Given the description of an element on the screen output the (x, y) to click on. 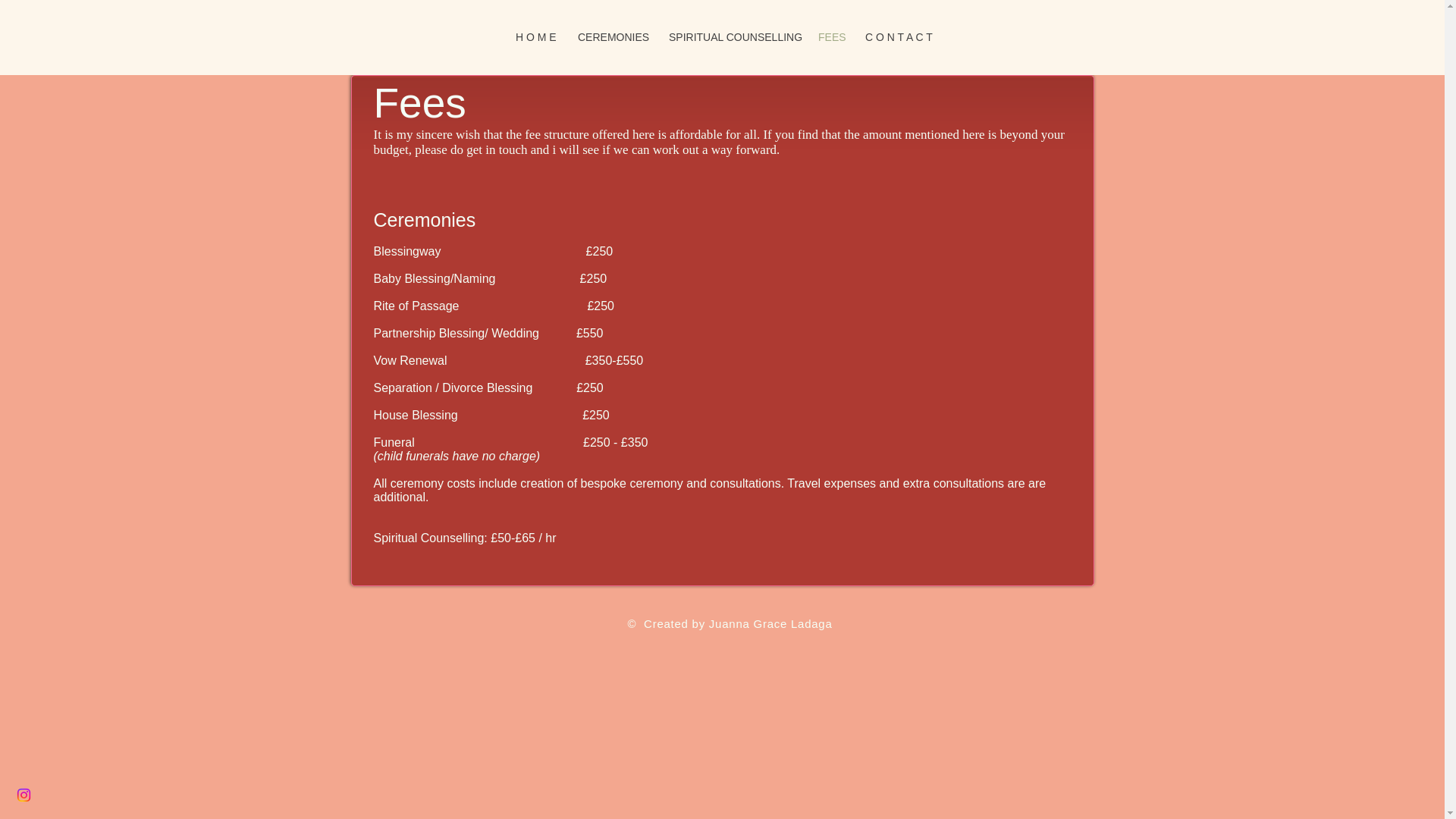
H O M E (534, 37)
FEES (829, 37)
C O N T A C T (896, 37)
SPIRITUAL COUNSELLING (732, 37)
CEREMONIES (612, 37)
